Given the description of an element on the screen output the (x, y) to click on. 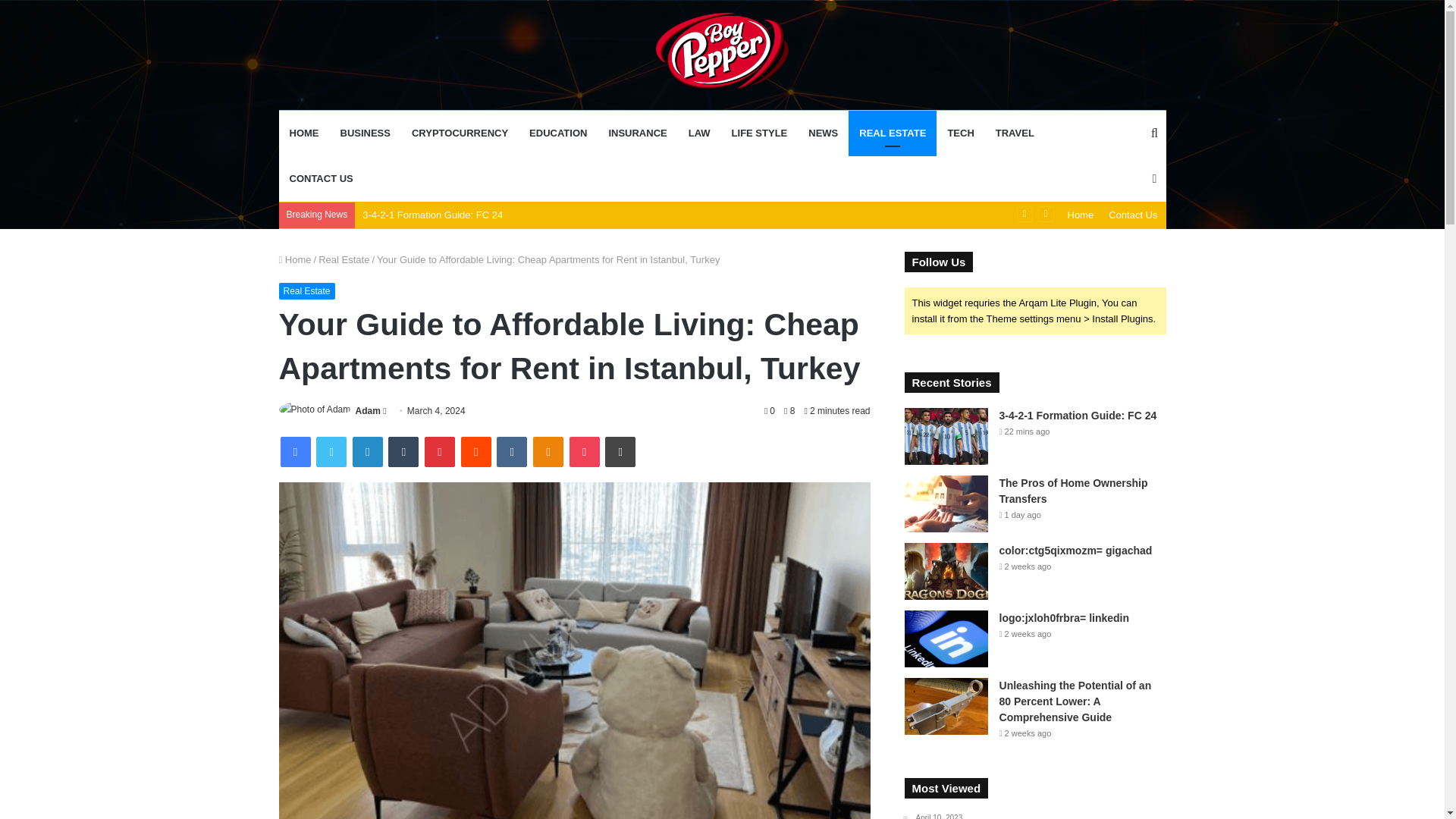
Real Estate (343, 259)
VKontakte (511, 451)
Home (1080, 214)
Odnoklassniki (547, 451)
Odnoklassniki (547, 451)
LIFE STYLE (758, 133)
Pinterest (439, 451)
Contact Us (1132, 214)
CONTACT US (321, 178)
LAW (699, 133)
NEWS (822, 133)
Reddit (476, 451)
EDUCATION (557, 133)
LinkedIn (367, 451)
Twitter (330, 451)
